Given the description of an element on the screen output the (x, y) to click on. 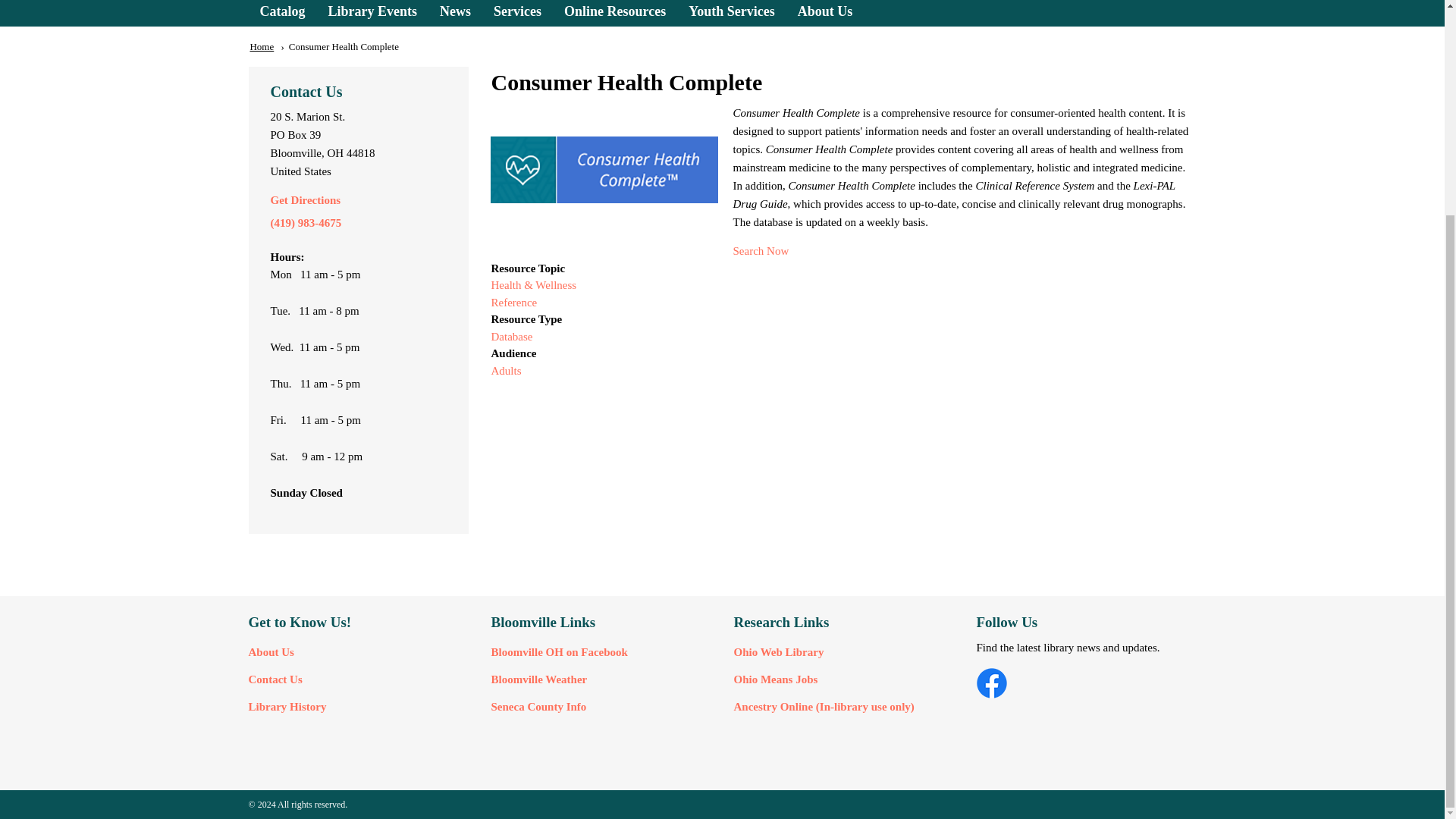
Services (517, 13)
Library Events (373, 13)
Catalog (282, 13)
News (454, 13)
